Given the description of an element on the screen output the (x, y) to click on. 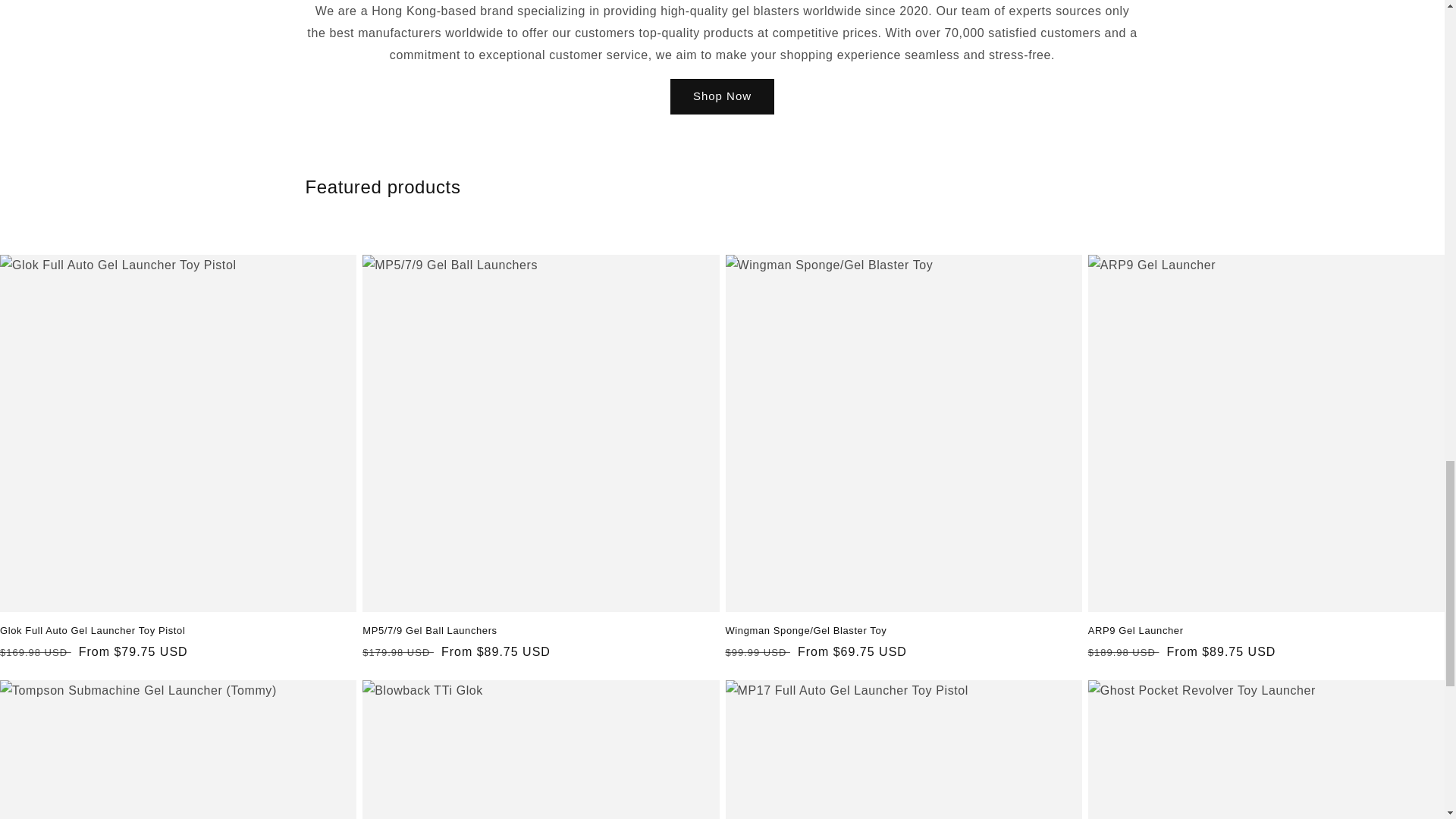
Glok Full Auto Gel Launcher Toy Pistol (178, 631)
Shop Now (721, 96)
